Given the description of an element on the screen output the (x, y) to click on. 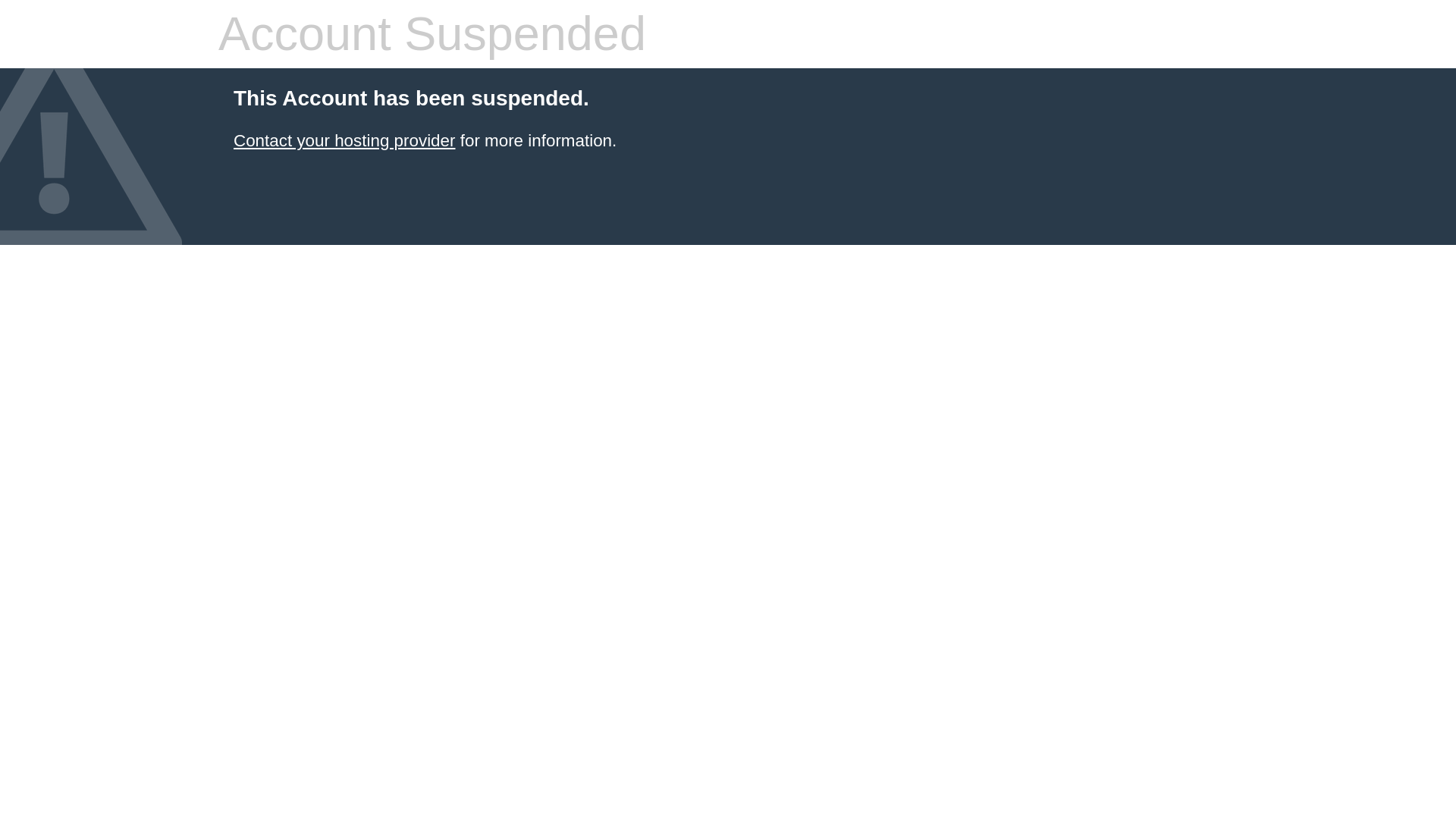
Contact your hosting provider (343, 140)
